Given the description of an element on the screen output the (x, y) to click on. 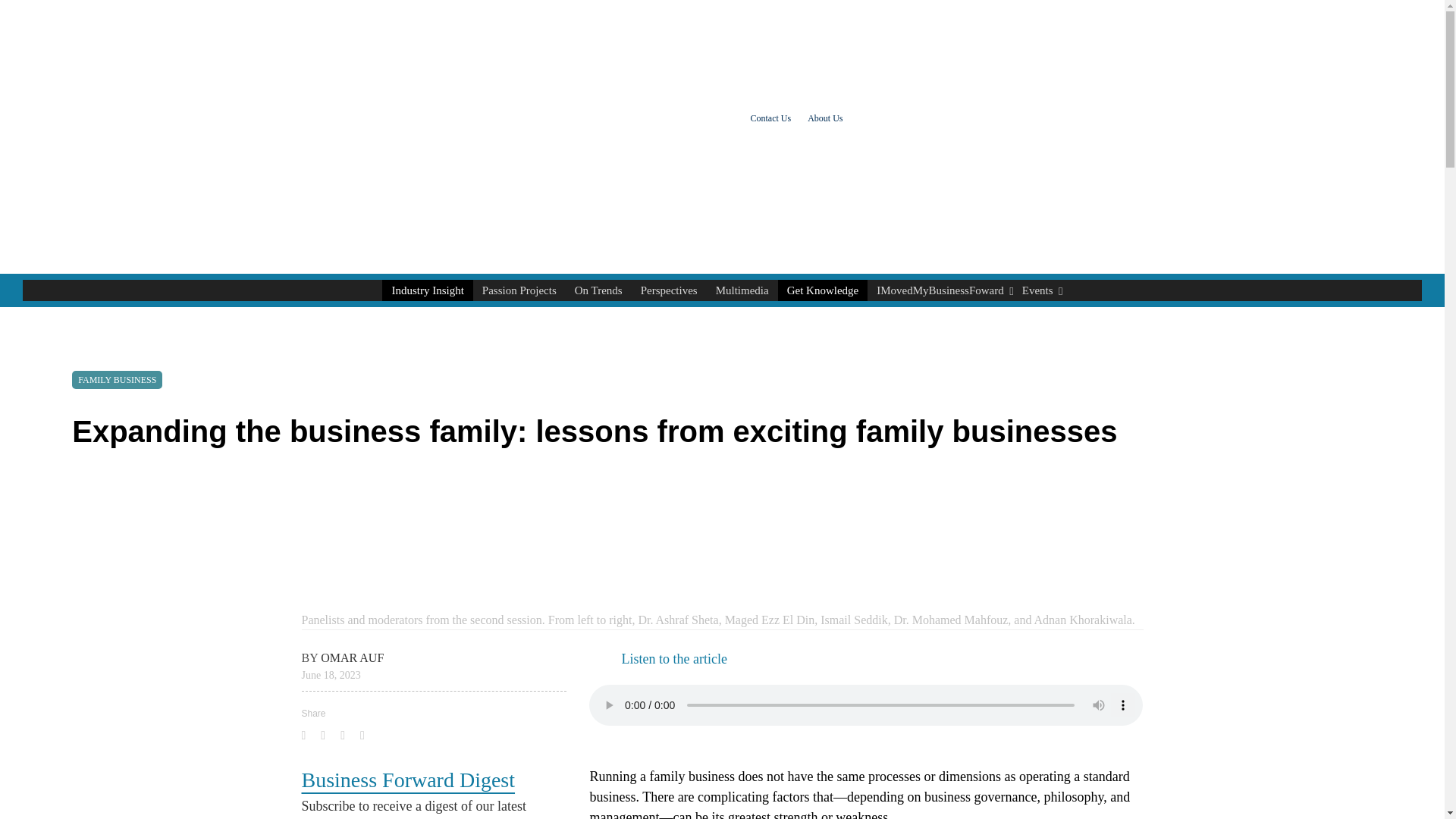
About Us (770, 118)
Perspectives (824, 118)
Passion Projects (668, 290)
Industry Insight (519, 290)
On Trends (426, 290)
Multimedia (598, 290)
